Given the description of an element on the screen output the (x, y) to click on. 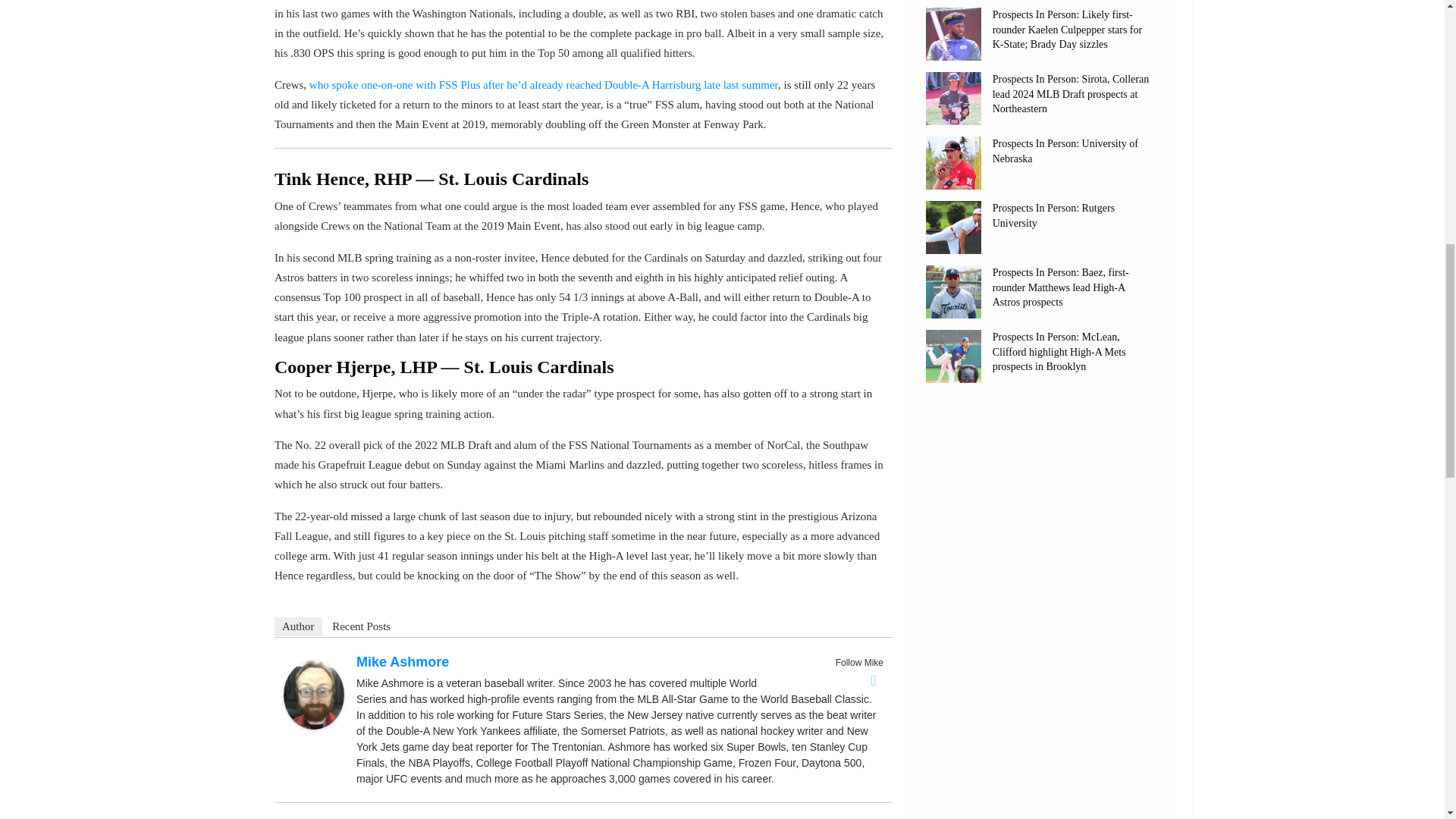
Mike Ashmore (313, 694)
Twitter (873, 679)
